Given the description of an element on the screen output the (x, y) to click on. 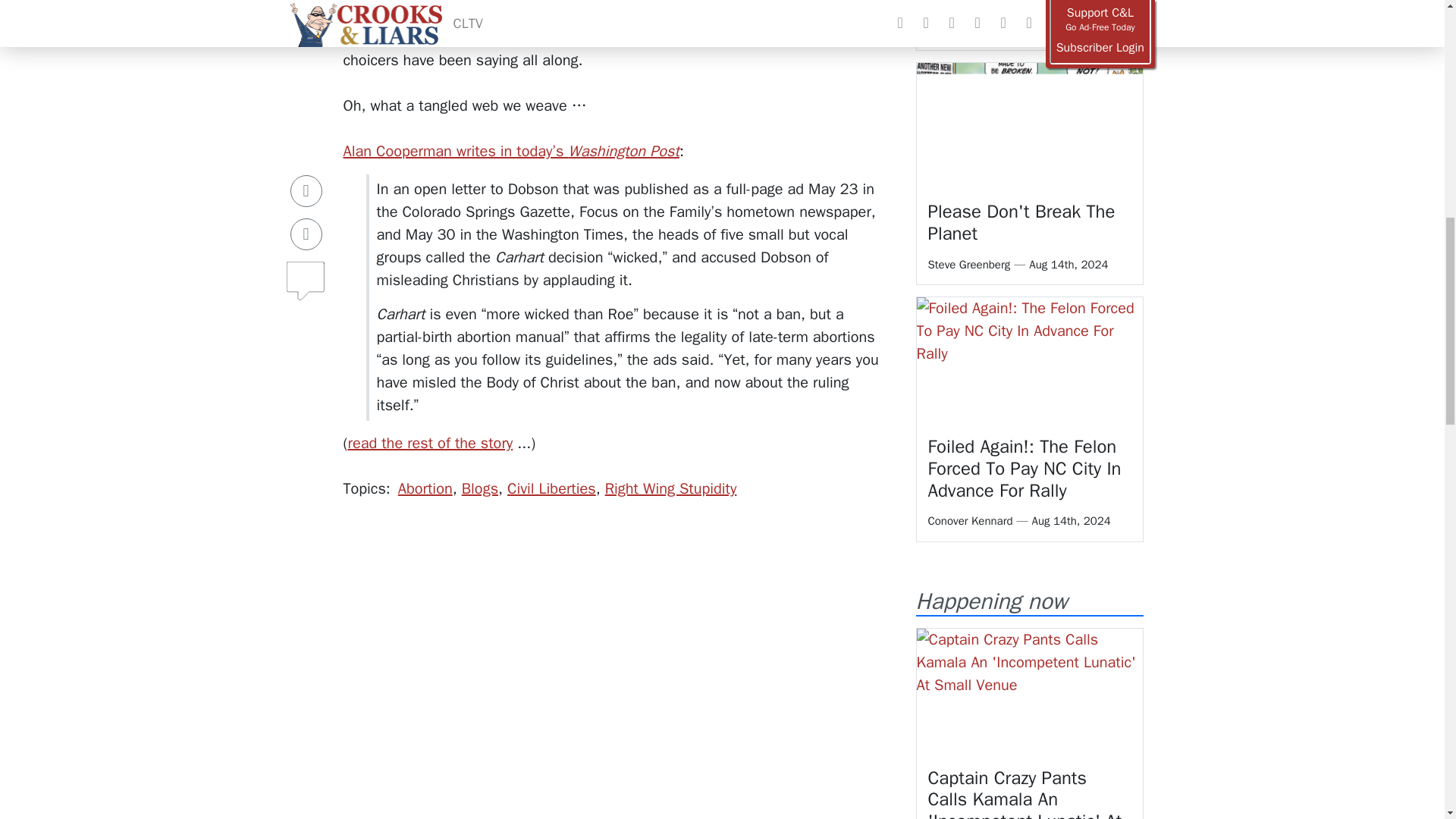
Right Wing Stupidity (670, 488)
read the rest of the story (429, 443)
Civil Liberties (550, 488)
Insticator Content Engagement Unit (415, 782)
Blogs (479, 488)
Abortion (424, 488)
Cable News Must Not Air Trump's Bedminster Presser Live (1026, 5)
